Given the description of an element on the screen output the (x, y) to click on. 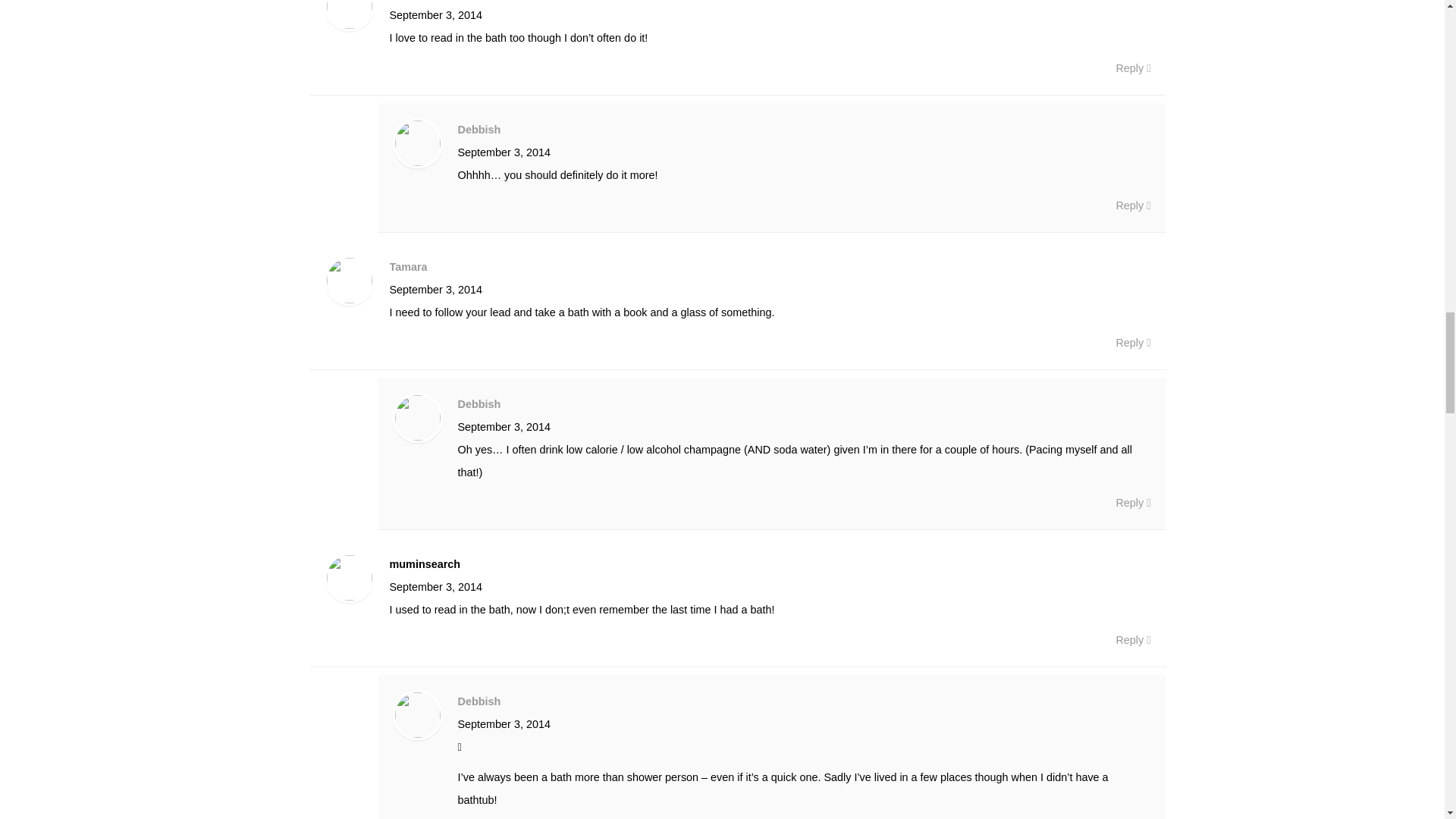
Debbish (479, 701)
Tamara (409, 266)
Reply (1132, 67)
Reply (1132, 639)
Debbish (479, 404)
Reply (1132, 502)
Reply (1132, 205)
Debbish (479, 129)
Reply (1132, 342)
